Given the description of an element on the screen output the (x, y) to click on. 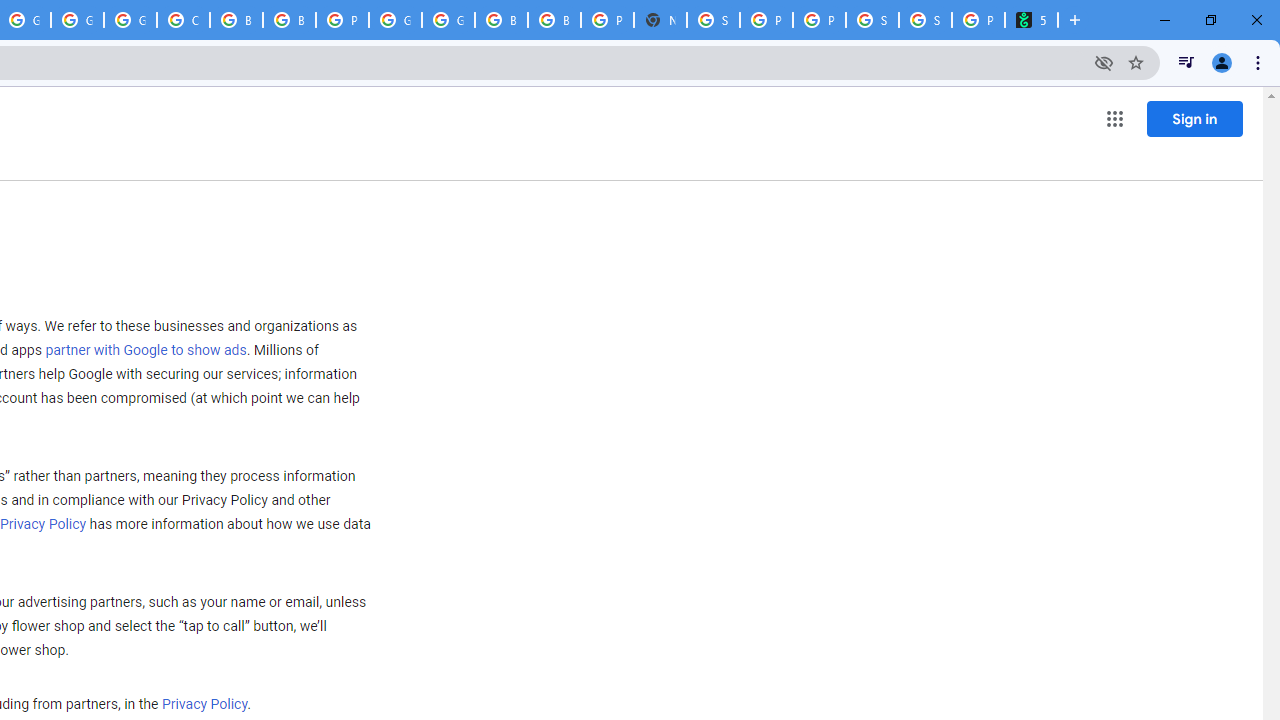
Google Cloud Platform (77, 20)
New Tab (660, 20)
